Given the description of an element on the screen output the (x, y) to click on. 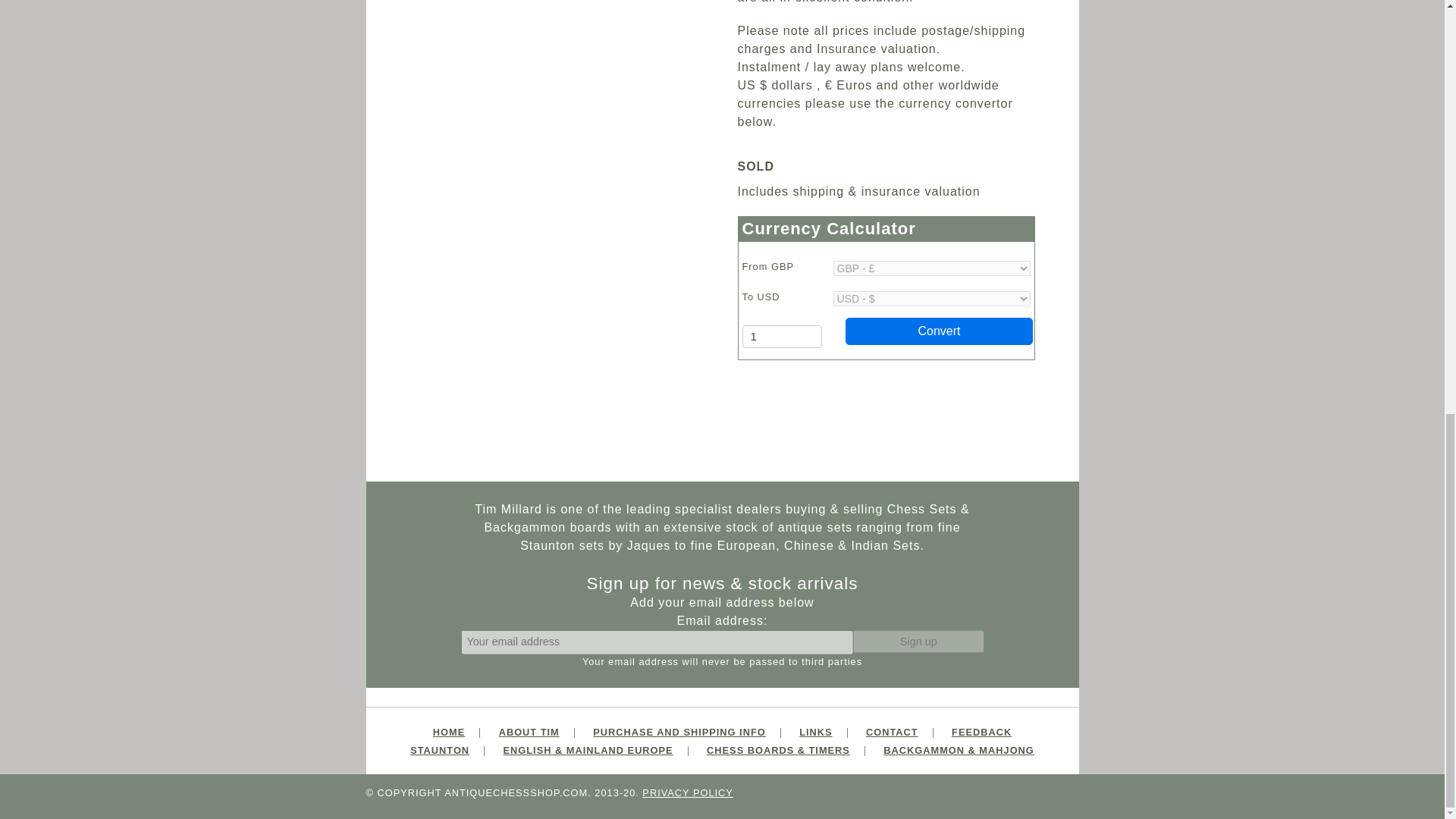
Sign up (918, 640)
Convert (939, 330)
STAUNTON (439, 749)
FEEDBACK (981, 731)
1 (781, 336)
CONTACT (892, 731)
LINKS (815, 731)
Sign up (918, 640)
ABOUT TIM (529, 731)
PURCHASE AND SHIPPING INFO (678, 731)
HOME (448, 731)
